Given the description of an element on the screen output the (x, y) to click on. 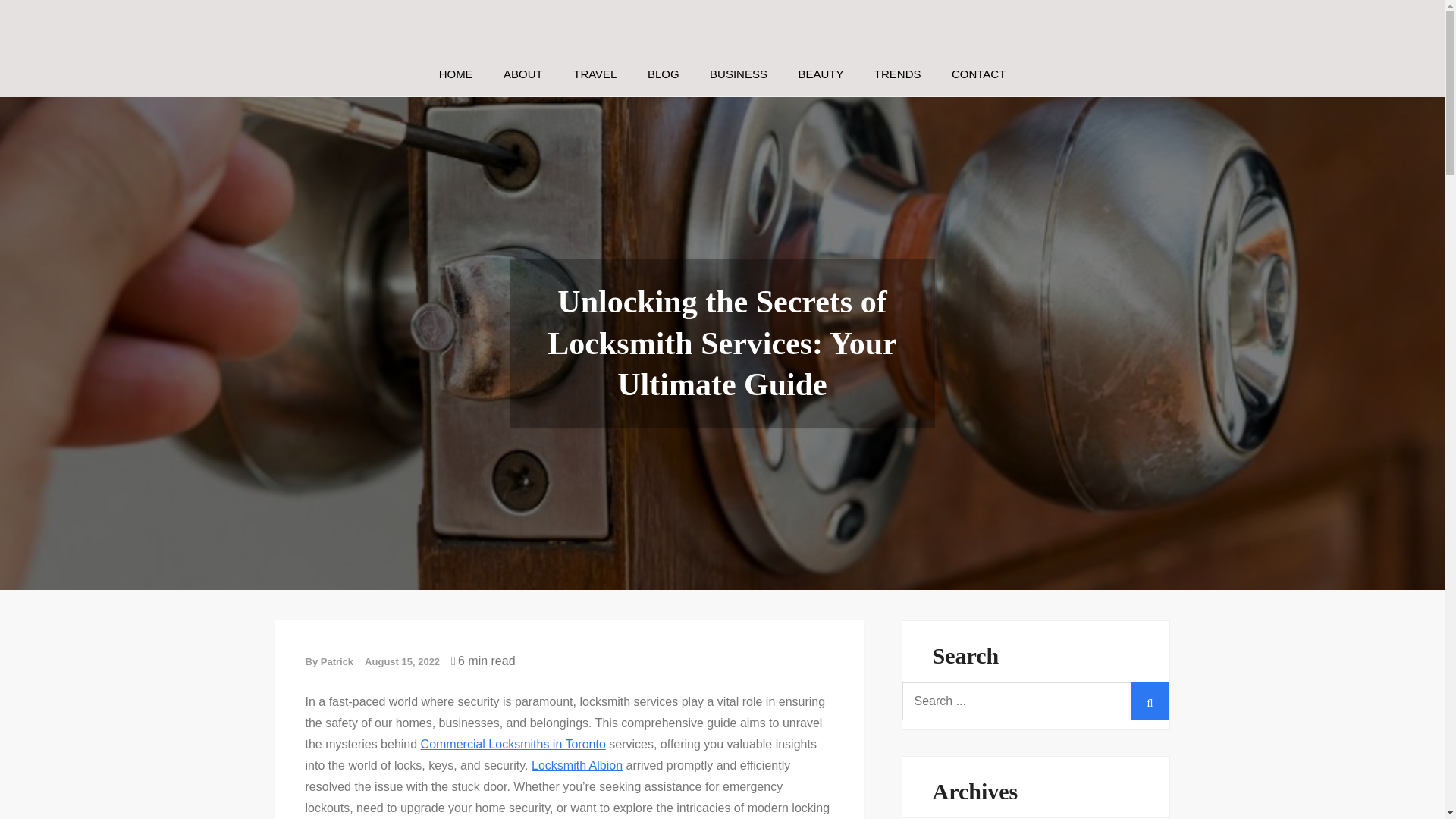
Commercial Locksmiths in Toronto (512, 744)
TRENDS (897, 74)
BLOG (663, 74)
Search (1150, 701)
Search for: (1035, 701)
August 15, 2022 (402, 661)
HOME (455, 74)
TRAVEL (594, 74)
Patrick (336, 661)
BEAUTY (820, 74)
CONTACT (978, 74)
BUSINESS (737, 74)
ABOUT (522, 74)
Locksmith Albion (577, 765)
